Given the description of an element on the screen output the (x, y) to click on. 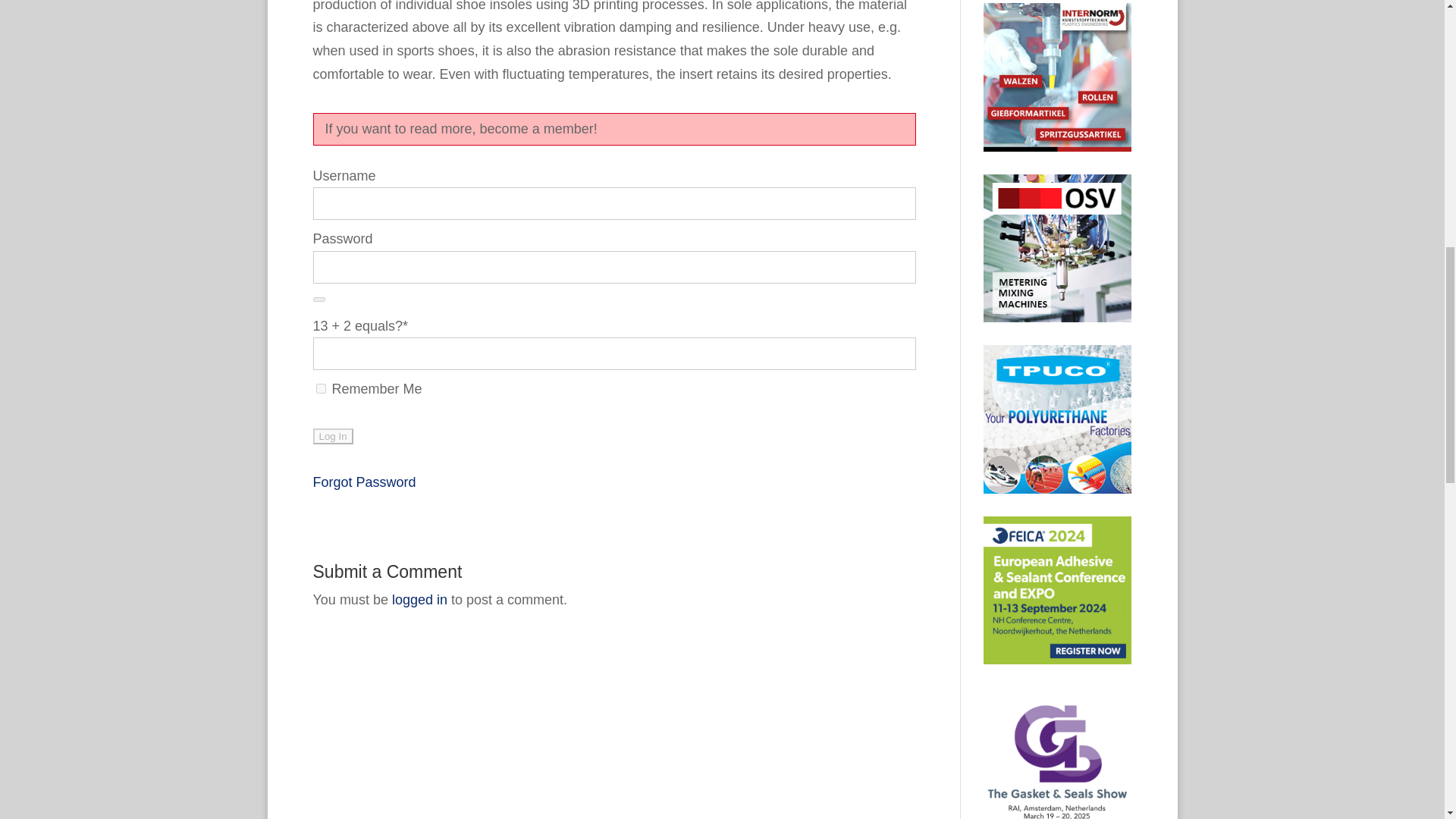
Log In (332, 436)
forever (319, 388)
Log In (332, 436)
Forgot Password (363, 482)
logged in (418, 599)
